Given the description of an element on the screen output the (x, y) to click on. 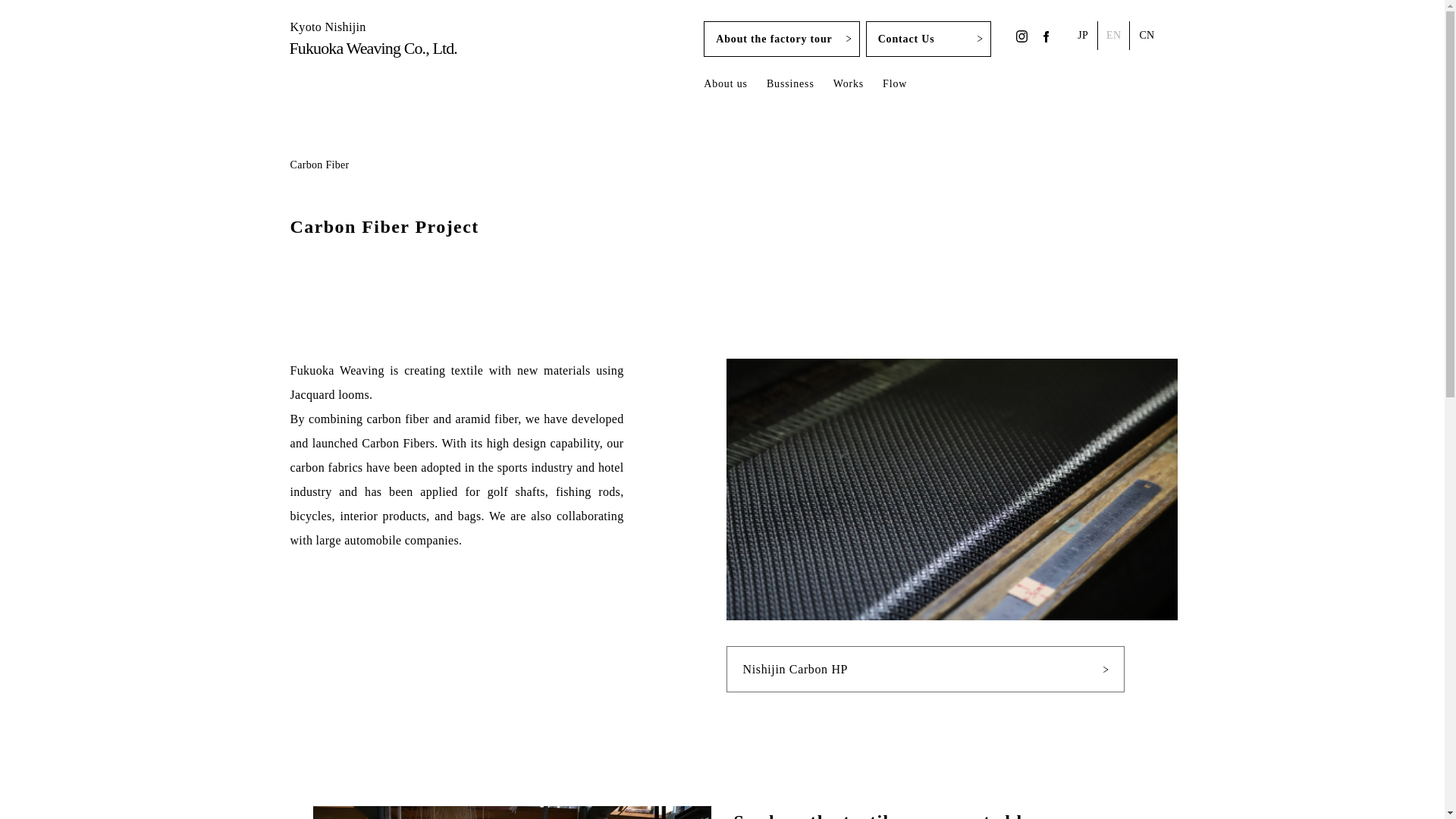
Nishijin Carbon HP (925, 668)
Bussiness (790, 86)
About the factory tour (781, 38)
About us (725, 86)
Works (373, 38)
Contact Us (847, 86)
Flow (928, 38)
